Given the description of an element on the screen output the (x, y) to click on. 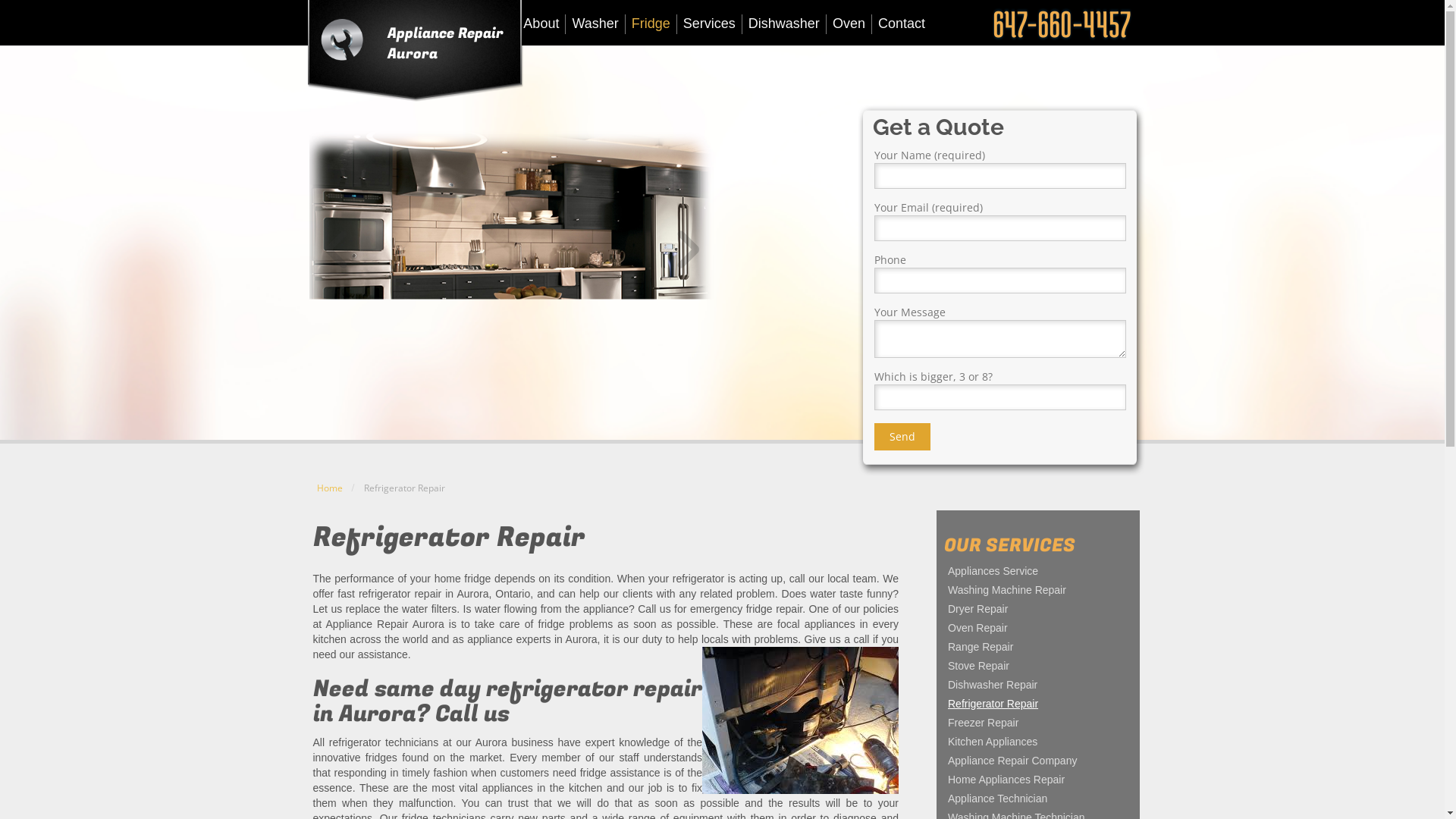
Home Element type: text (492, 24)
Range Repair Element type: text (1038, 646)
Appliance Repair Company Element type: text (1038, 760)
Refrigerator Repair Element type: text (1038, 703)
Home Appliances Repair Element type: text (1038, 779)
Dishwasher Repair Element type: text (1038, 684)
Oven Repair Element type: text (1038, 627)
Home Element type: text (329, 487)
Appliance Technician Element type: text (1038, 798)
647-660-4457 Element type: text (1061, 23)
Dishwasher Element type: text (784, 24)
Freezer Repair Element type: text (1038, 722)
Fridge Element type: text (651, 24)
Send Element type: text (902, 436)
Services Element type: text (709, 24)
Washer Element type: text (594, 24)
Washing Machine Repair Element type: text (1038, 589)
Stove Repair Element type: text (1038, 665)
Appliances Service Element type: text (1038, 570)
Contact Element type: text (901, 24)
Oven Element type: text (849, 24)
Dryer Repair Element type: text (1038, 608)
Kitchen Appliances Element type: text (1038, 741)
About Element type: text (541, 24)
